Given the description of an element on the screen output the (x, y) to click on. 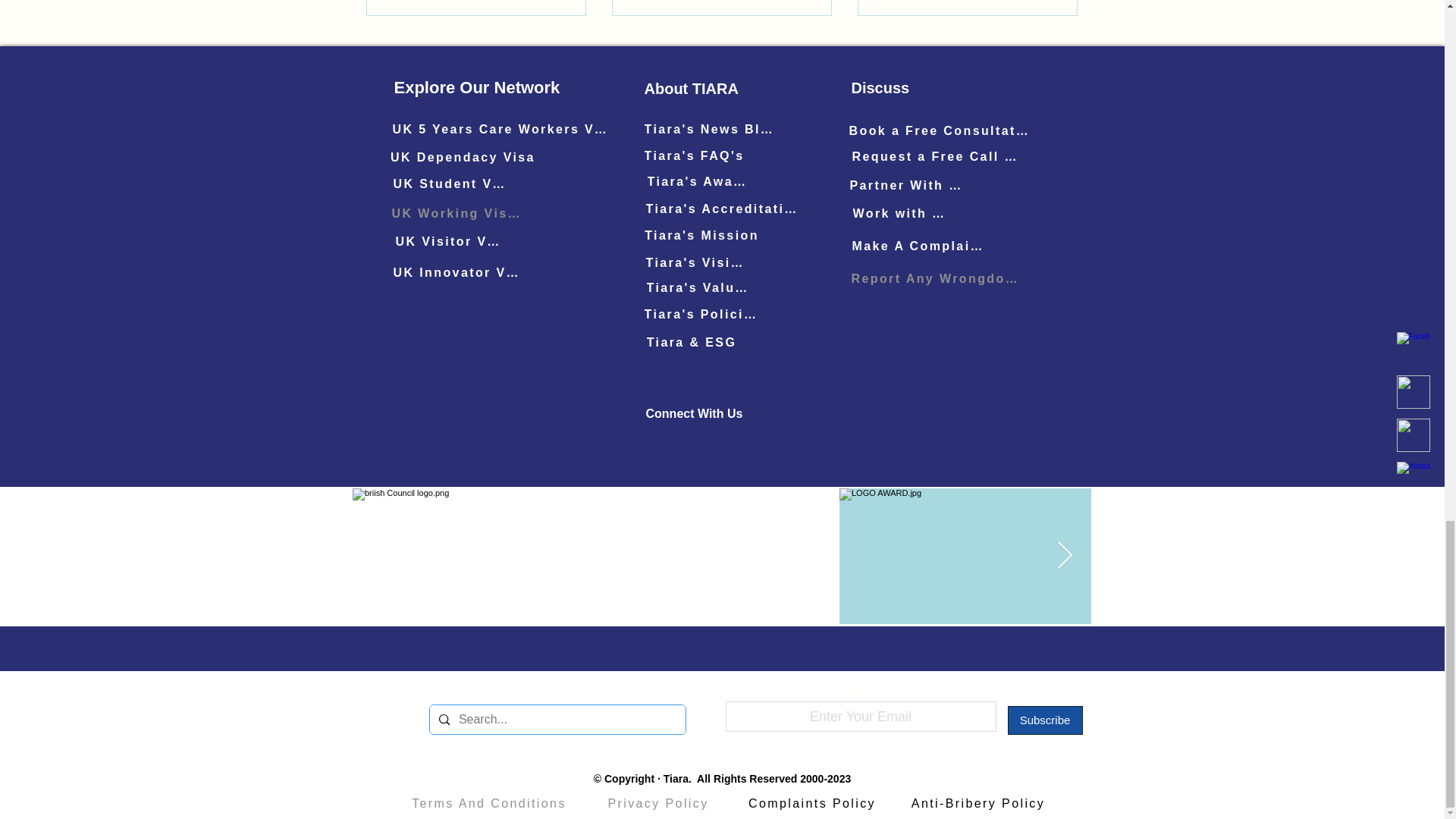
Enter Your Email (860, 716)
